Given the description of an element on the screen output the (x, y) to click on. 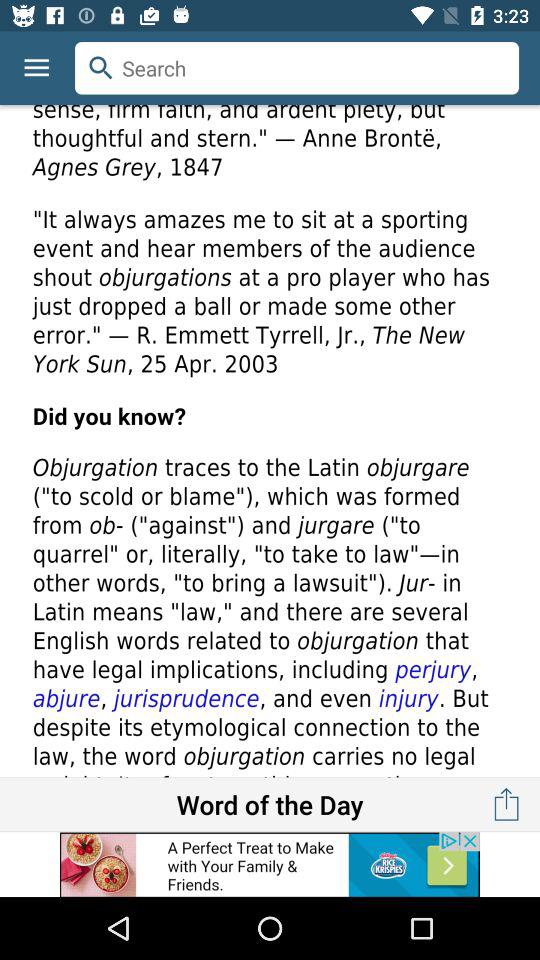
search textbox (297, 68)
